Given the description of an element on the screen output the (x, y) to click on. 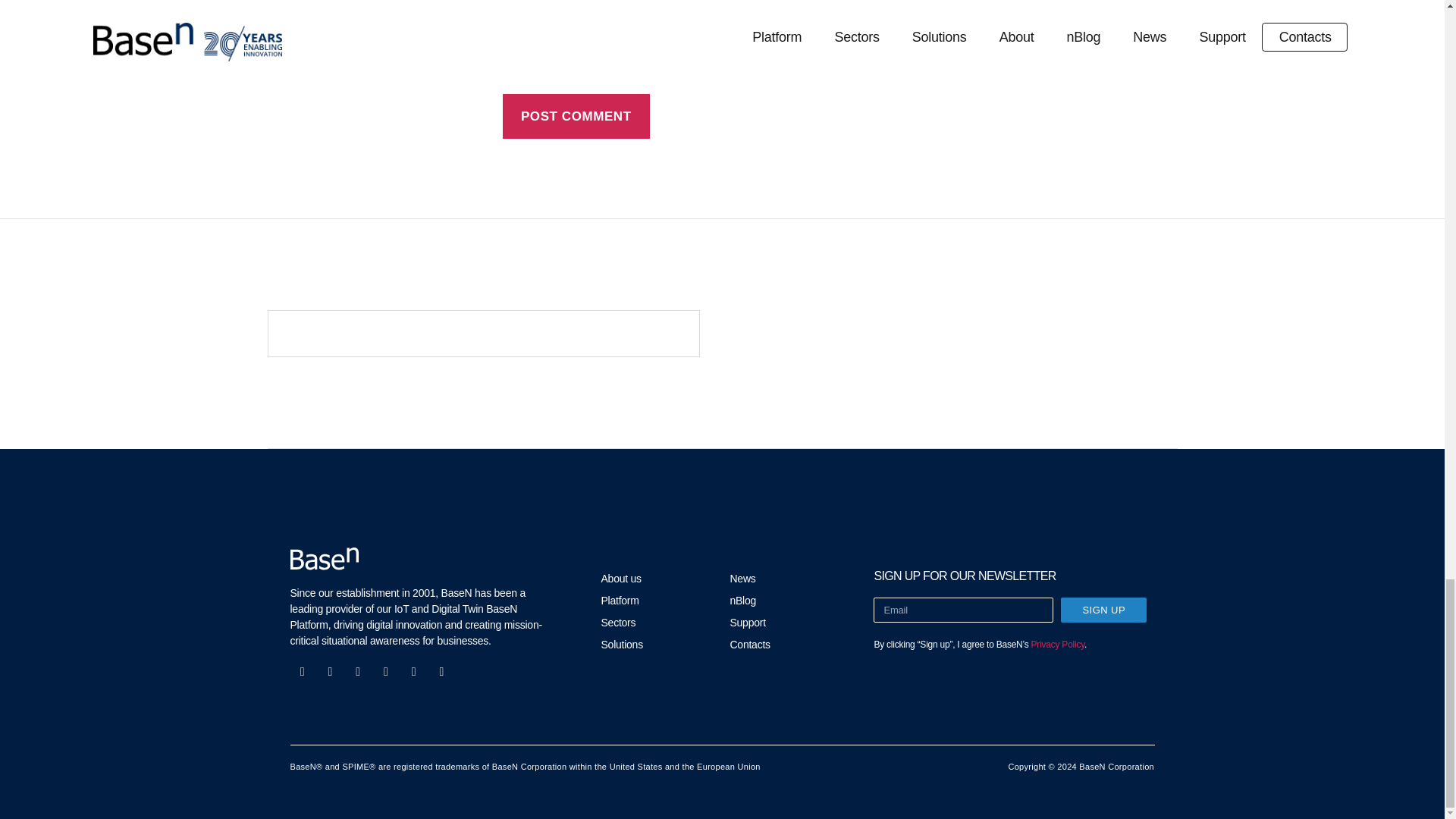
yes (507, 63)
Post Comment (575, 116)
